Given the description of an element on the screen output the (x, y) to click on. 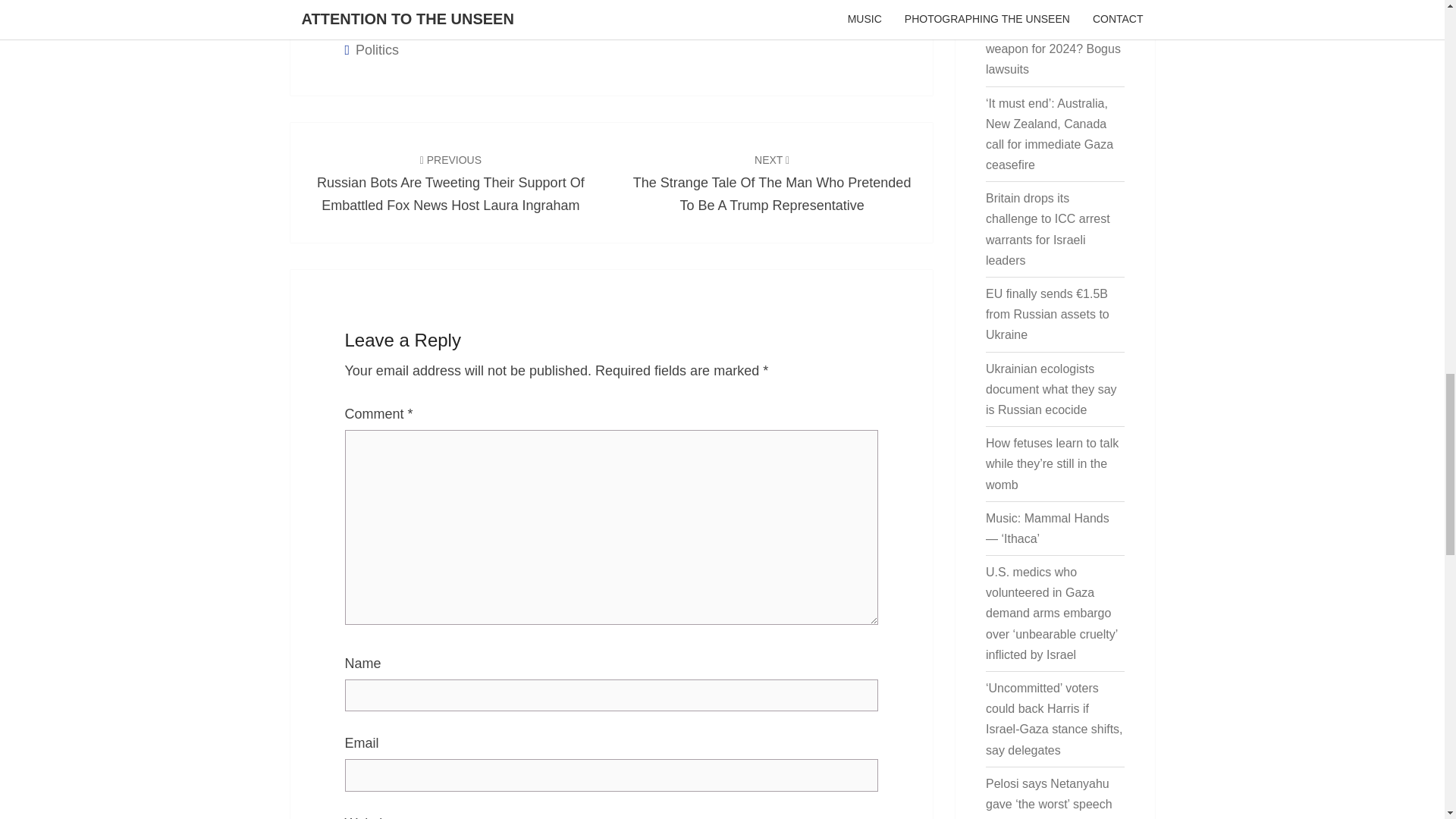
Print this post (378, 3)
Politics (376, 49)
The 2024 map just got a major shakeup (1050, 0)
